Given the description of an element on the screen output the (x, y) to click on. 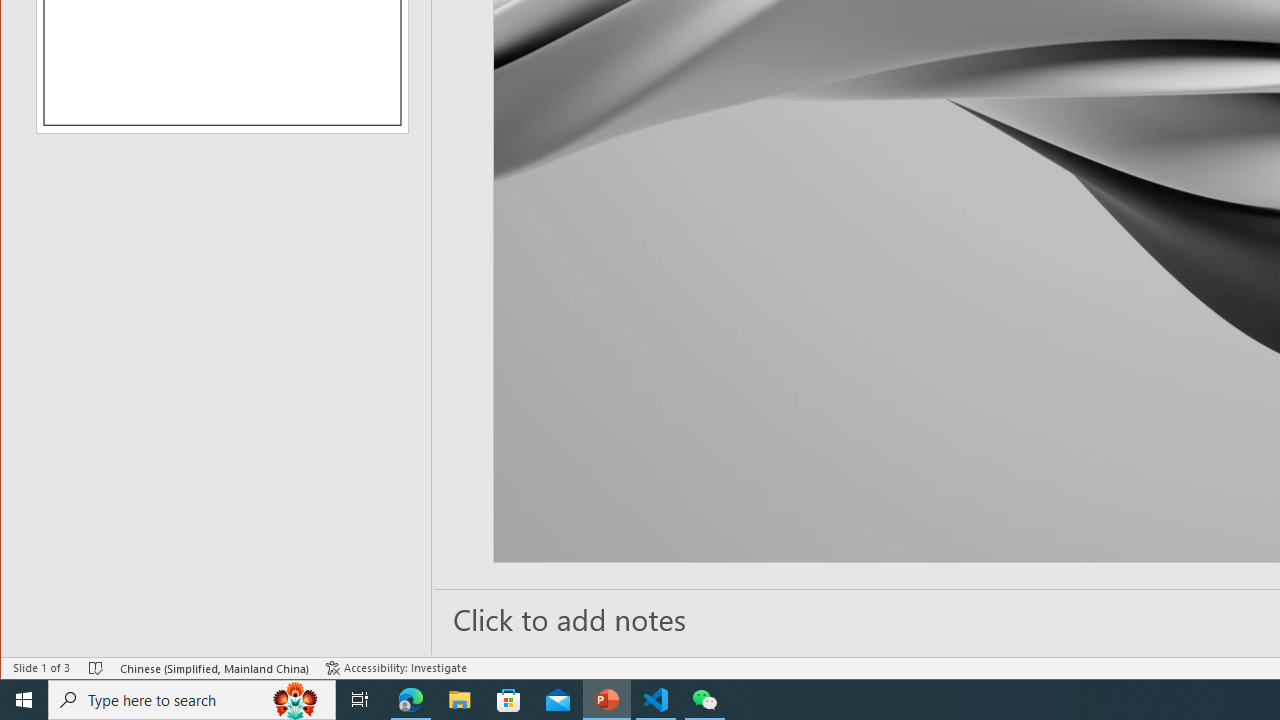
WeChat - 1 running window (704, 699)
